Given the description of an element on the screen output the (x, y) to click on. 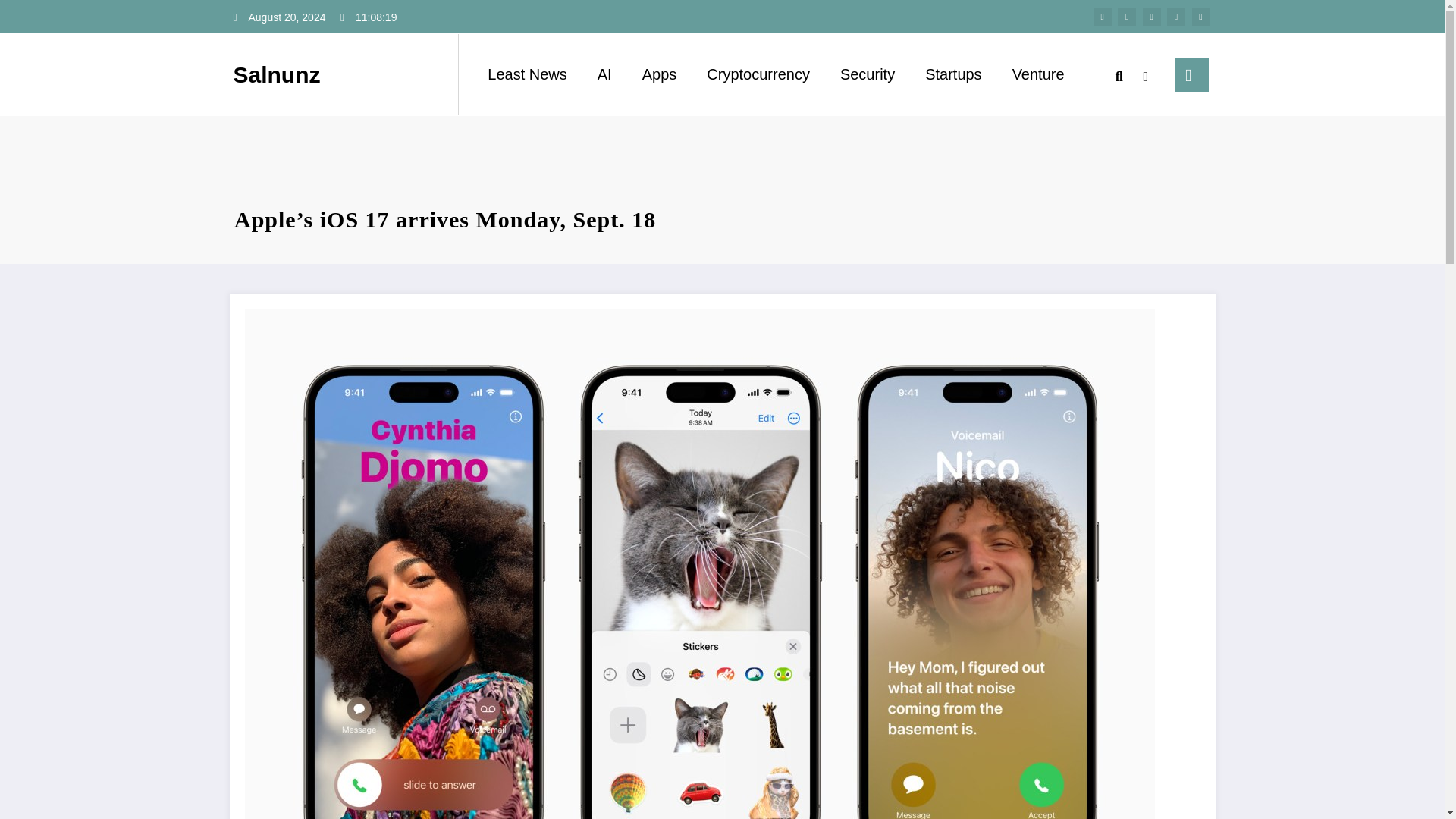
youtube (1200, 16)
Salnunz (276, 74)
Cryptocurrency (758, 74)
dribbble (1151, 16)
twitter (1126, 16)
Apps (660, 74)
instagram (1176, 16)
Toggle Icon (1191, 74)
Salnunz (276, 74)
AI (604, 74)
